Given the description of an element on the screen output the (x, y) to click on. 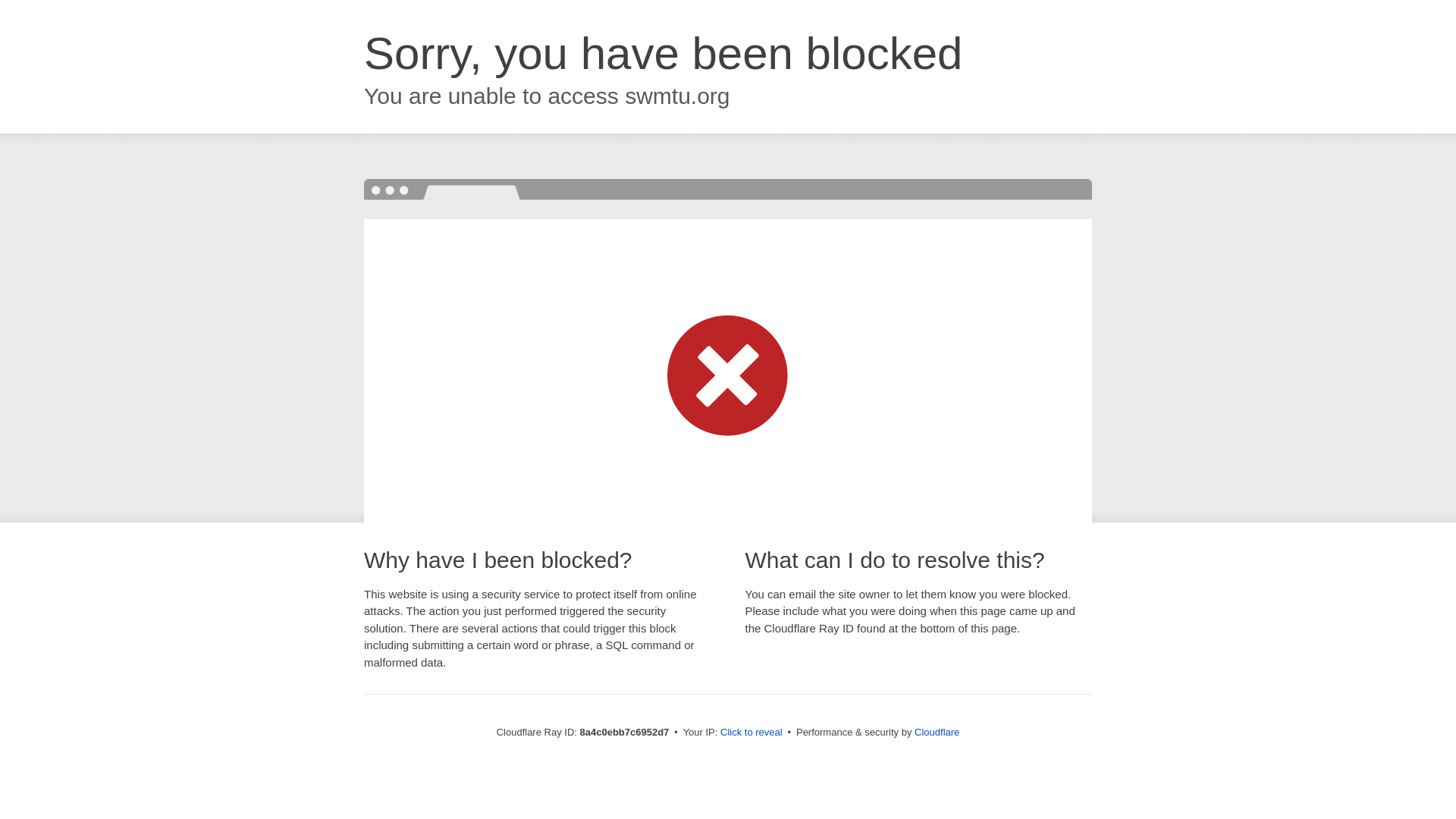
Click to reveal (751, 732)
Cloudflare (936, 731)
